Given the description of an element on the screen output the (x, y) to click on. 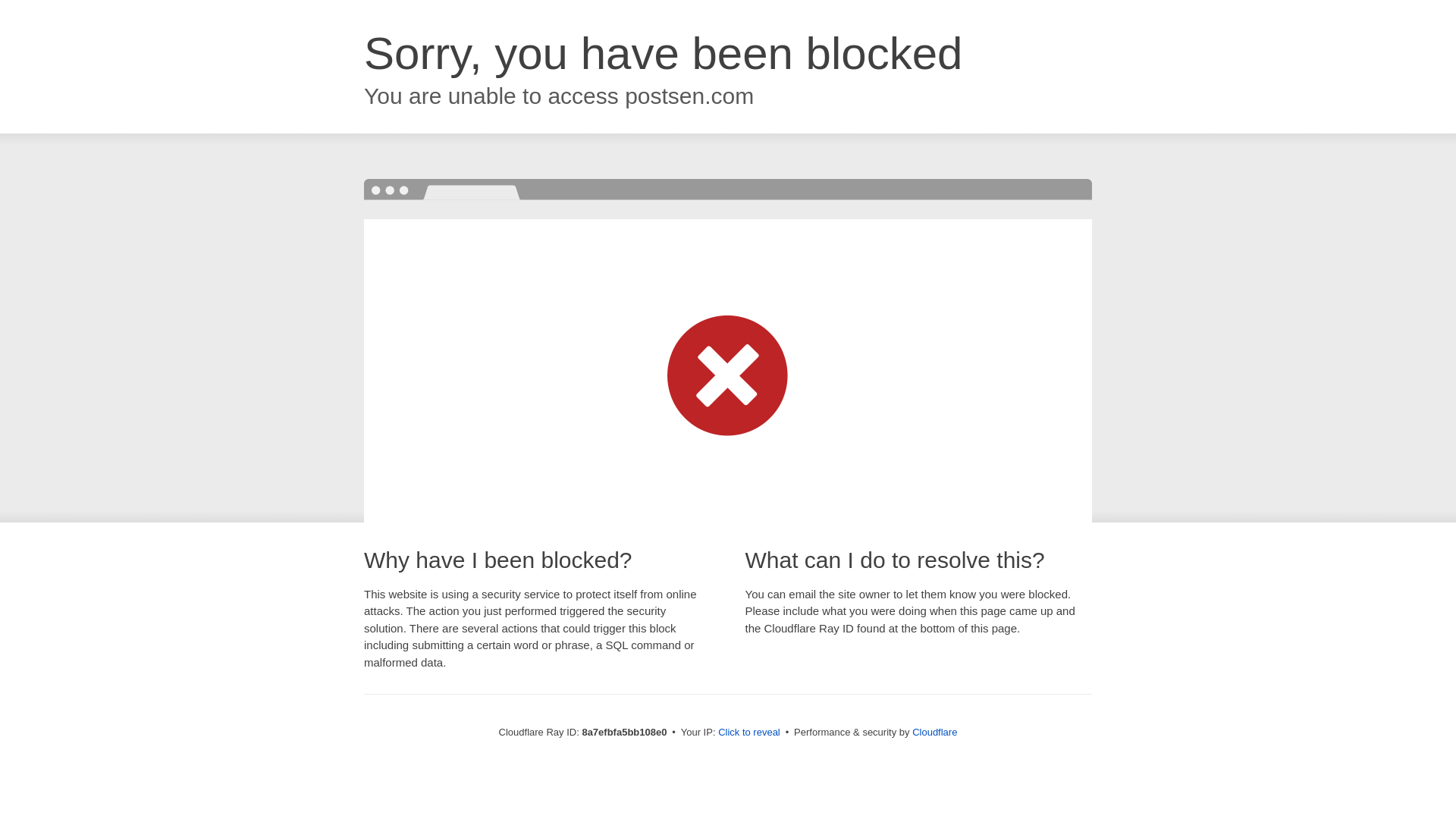
Click to reveal (748, 732)
Cloudflare (934, 731)
